Given the description of an element on the screen output the (x, y) to click on. 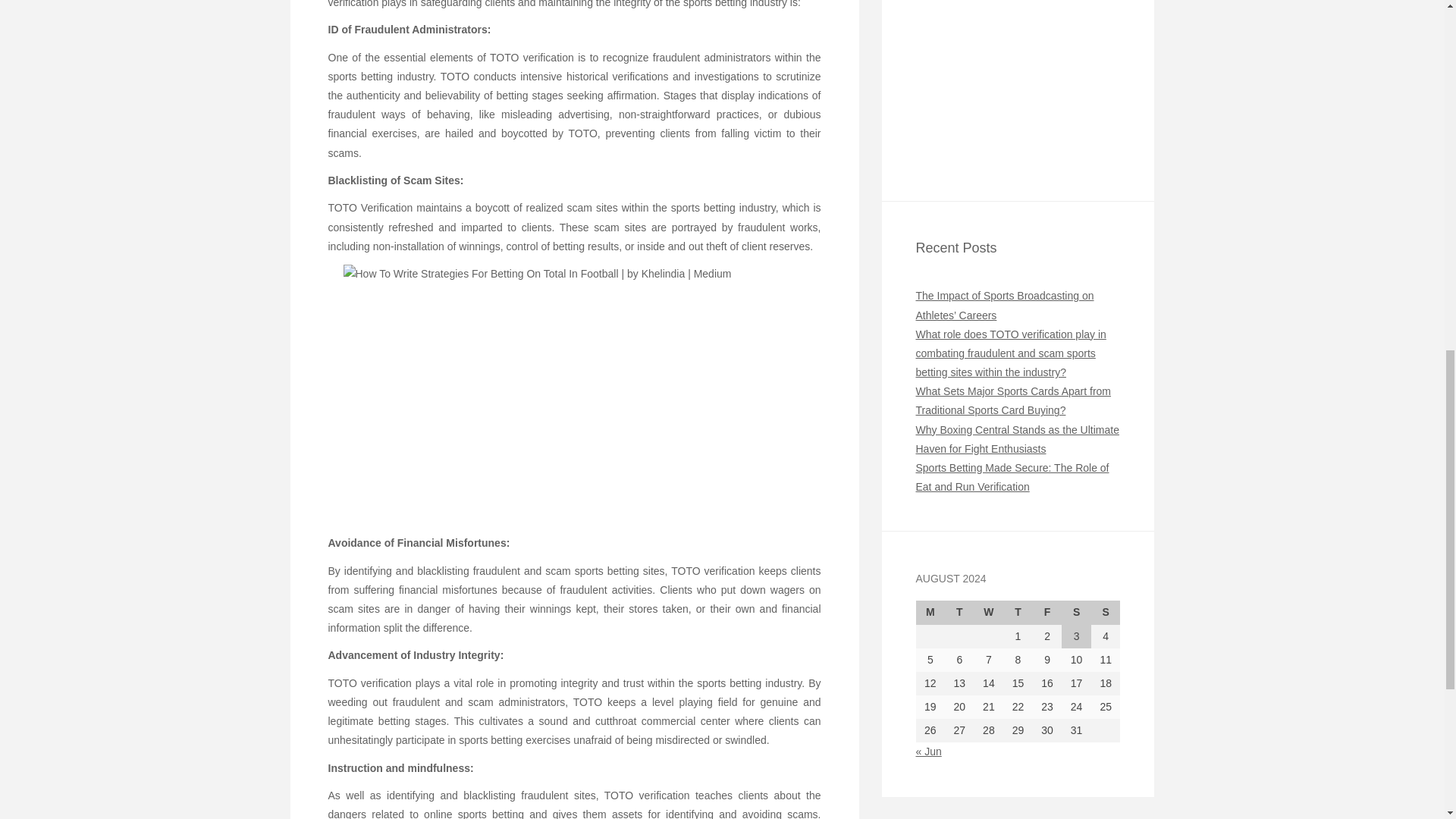
Wednesday (989, 612)
Thursday (1017, 612)
Tuesday (959, 612)
Monday (929, 612)
